Given the description of an element on the screen output the (x, y) to click on. 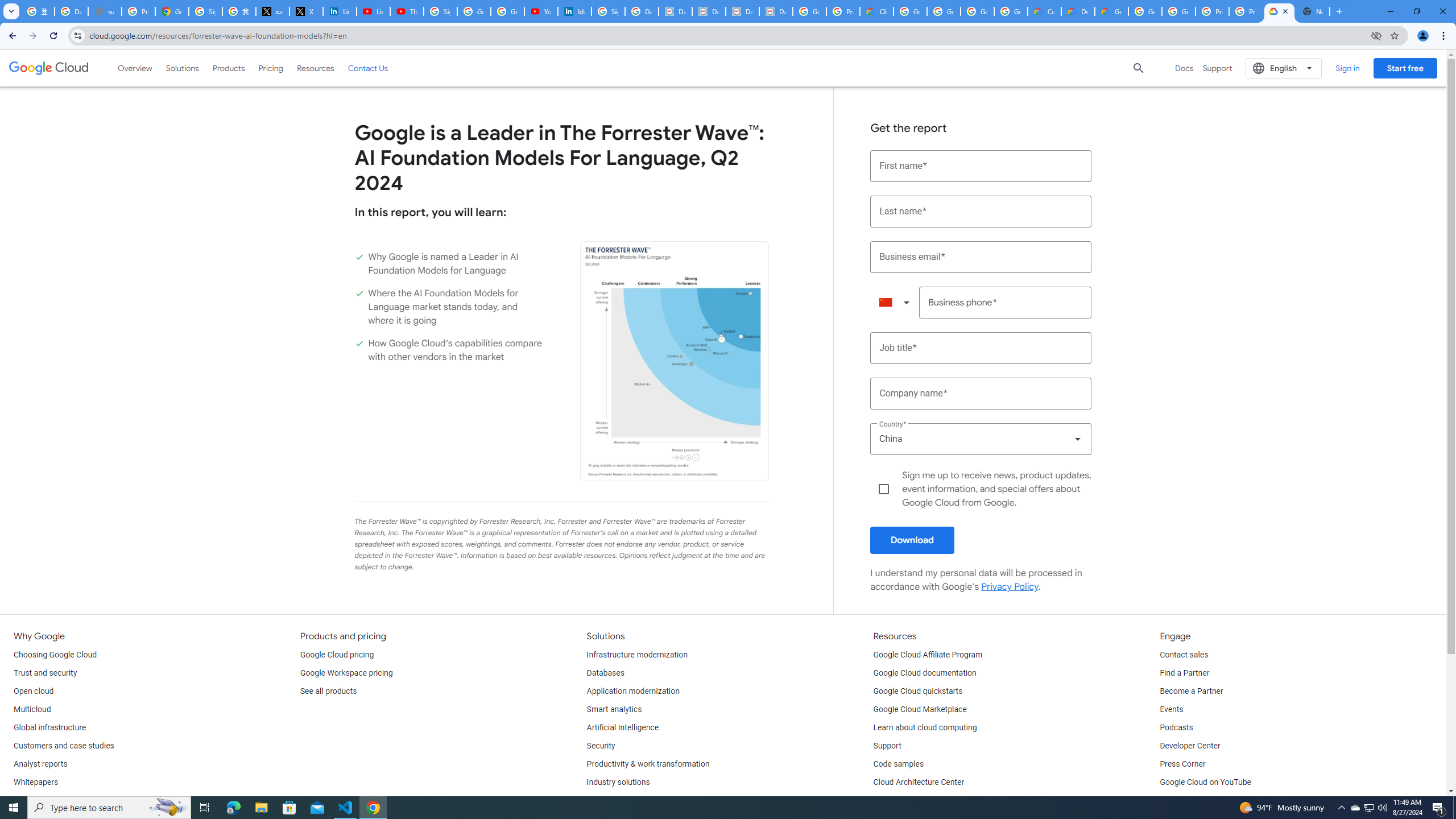
Business phone* (1005, 302)
Resources (314, 67)
Sign in - Google Accounts (205, 11)
Sign in - Google Accounts (441, 11)
Global infrastructure (49, 728)
Products (228, 67)
Google Workspace - Specific Terms (1010, 11)
First name* (981, 165)
DevOps solutions (617, 800)
Industry solutions (617, 782)
Multicloud (31, 710)
